Given the description of an element on the screen output the (x, y) to click on. 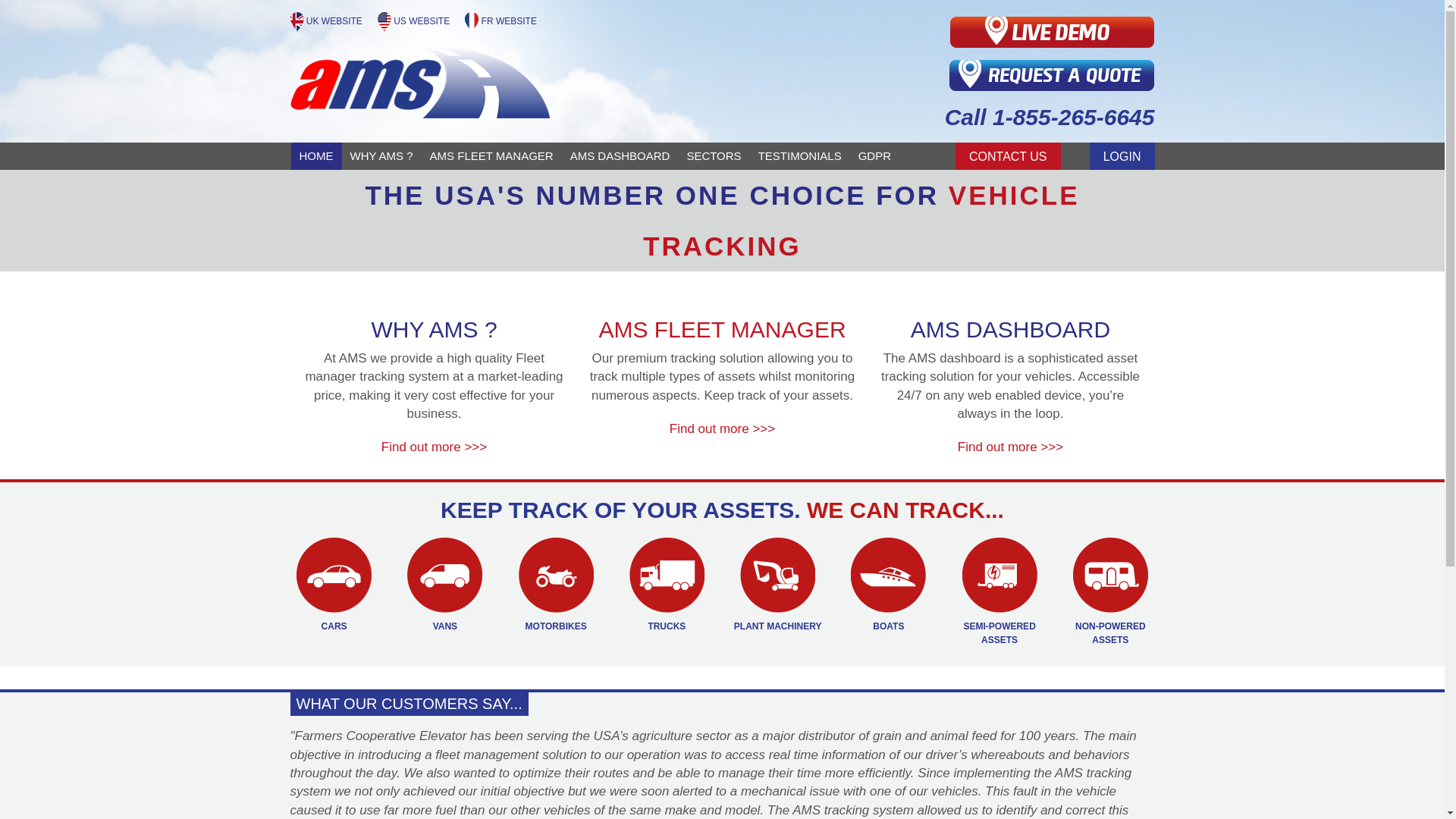
WHY AMS ? (380, 155)
FR WEBSITE (500, 20)
Call 1-855-265-6645 (981, 117)
Home (316, 155)
CONTACT US (1008, 155)
SECTORS (713, 155)
AMS Dashboard (620, 155)
TESTIMONIALS (799, 155)
LOGIN (1121, 155)
Why AMS ? (380, 155)
AMS DASHBOARD (620, 155)
AMS Fleet Manager (492, 155)
US WEBSITE (414, 20)
GDPR (874, 155)
HOME (316, 155)
